Given the description of an element on the screen output the (x, y) to click on. 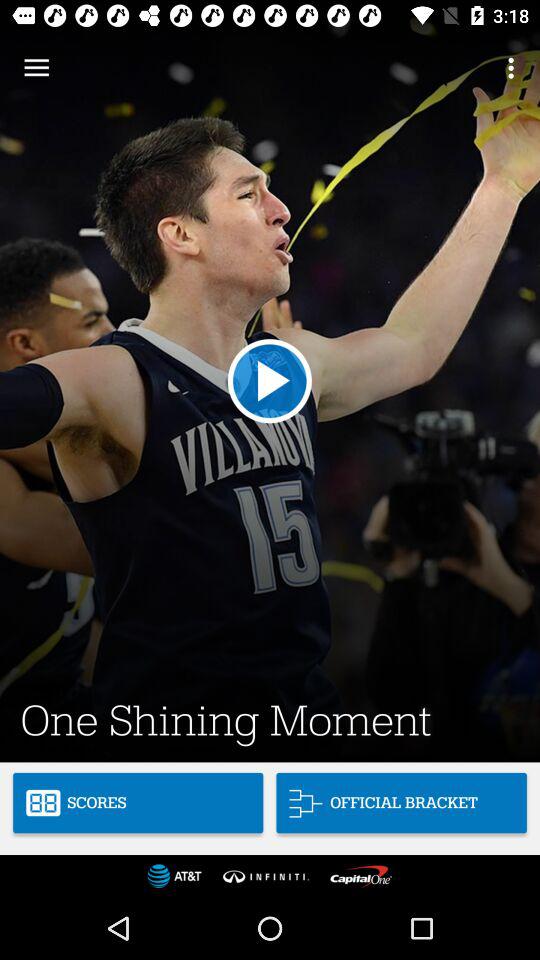
turn off the item at the bottom left corner (138, 802)
